Given the description of an element on the screen output the (x, y) to click on. 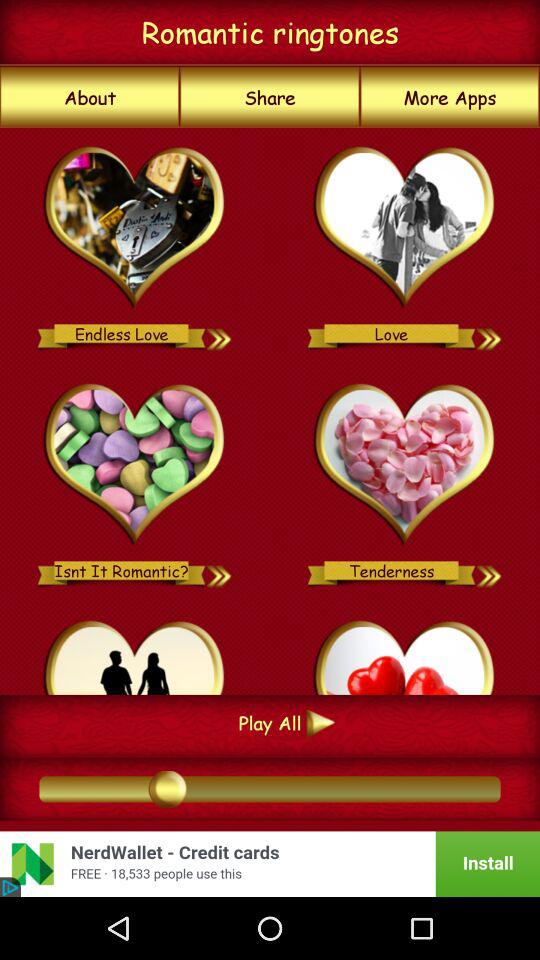
go to love ringtone (490, 333)
